Given the description of an element on the screen output the (x, y) to click on. 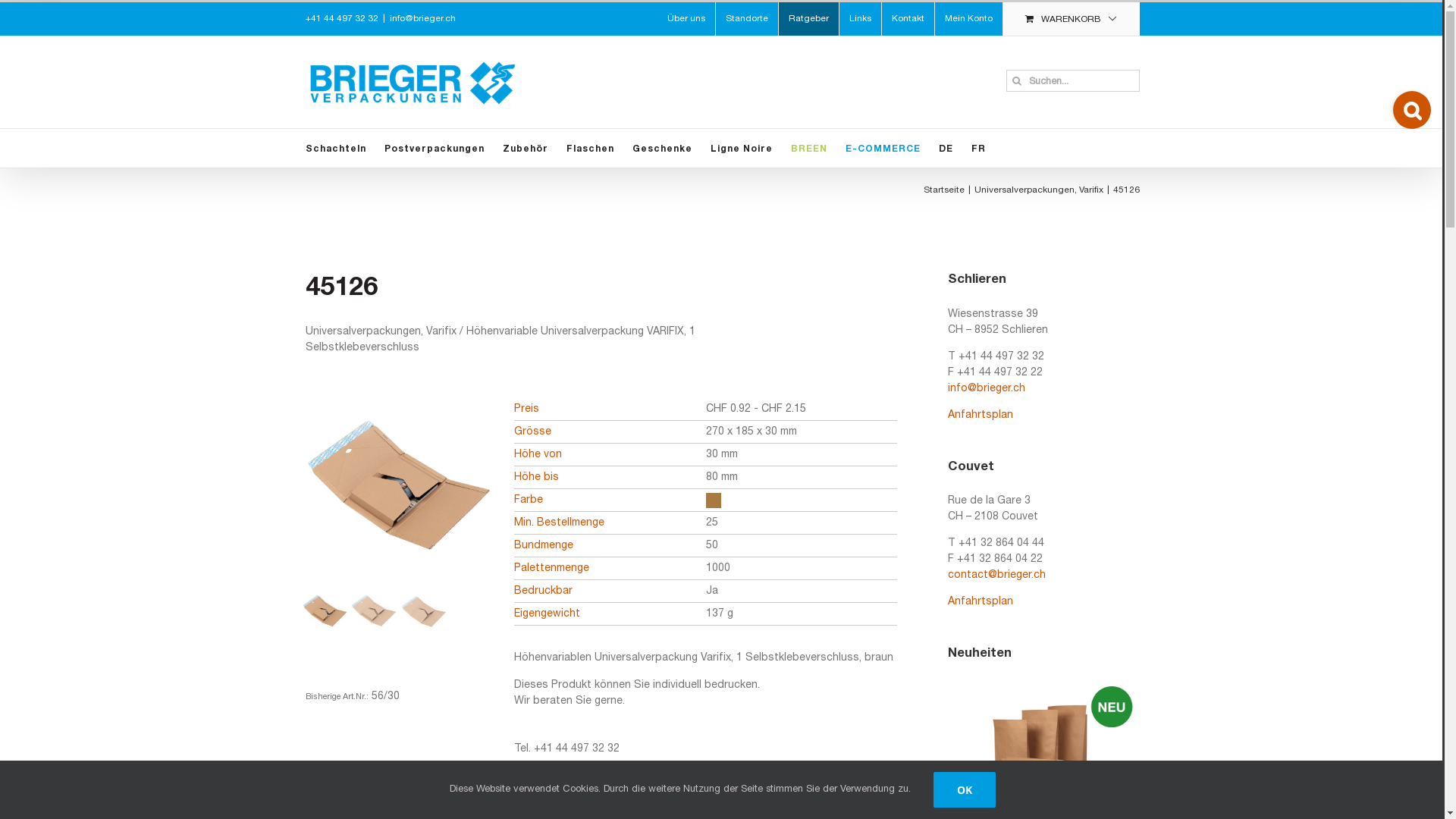
Ligne Noire Element type: text (740, 147)
Postverpackungen Element type: text (433, 147)
Startseite Element type: text (943, 189)
info@brieger.ch Element type: text (986, 388)
Anmelden Element type: text (1011, 152)
E-COMMERCE Element type: text (881, 147)
Links Element type: text (859, 18)
Anfahrtsplan Element type: text (980, 601)
contact@brieger.ch Element type: text (996, 575)
Universalverpackungen Element type: text (1024, 189)
BREEN Element type: text (808, 147)
Toggle Sliding Bar Area Element type: text (1411, 109)
OK Element type: text (963, 789)
Art.Nr. 41341 Element type: hover (209, 482)
braun Element type: hover (713, 500)
WARENKORB Element type: text (1070, 18)
Standorte Element type: text (746, 18)
info@brieger.ch Element type: text (422, 18)
Kontakt Element type: text (907, 18)
Brieger Element type: hover (399, 482)
Varifix Element type: text (1090, 189)
Geschenke Element type: text (662, 147)
Flaschen Element type: text (589, 147)
FR Element type: text (977, 147)
Ratgeber Element type: text (807, 18)
Mein Konto Element type: text (967, 18)
Anfahrtsplan Element type: text (980, 415)
DE Element type: text (945, 147)
Schachteln Element type: text (334, 147)
